Given the description of an element on the screen output the (x, y) to click on. 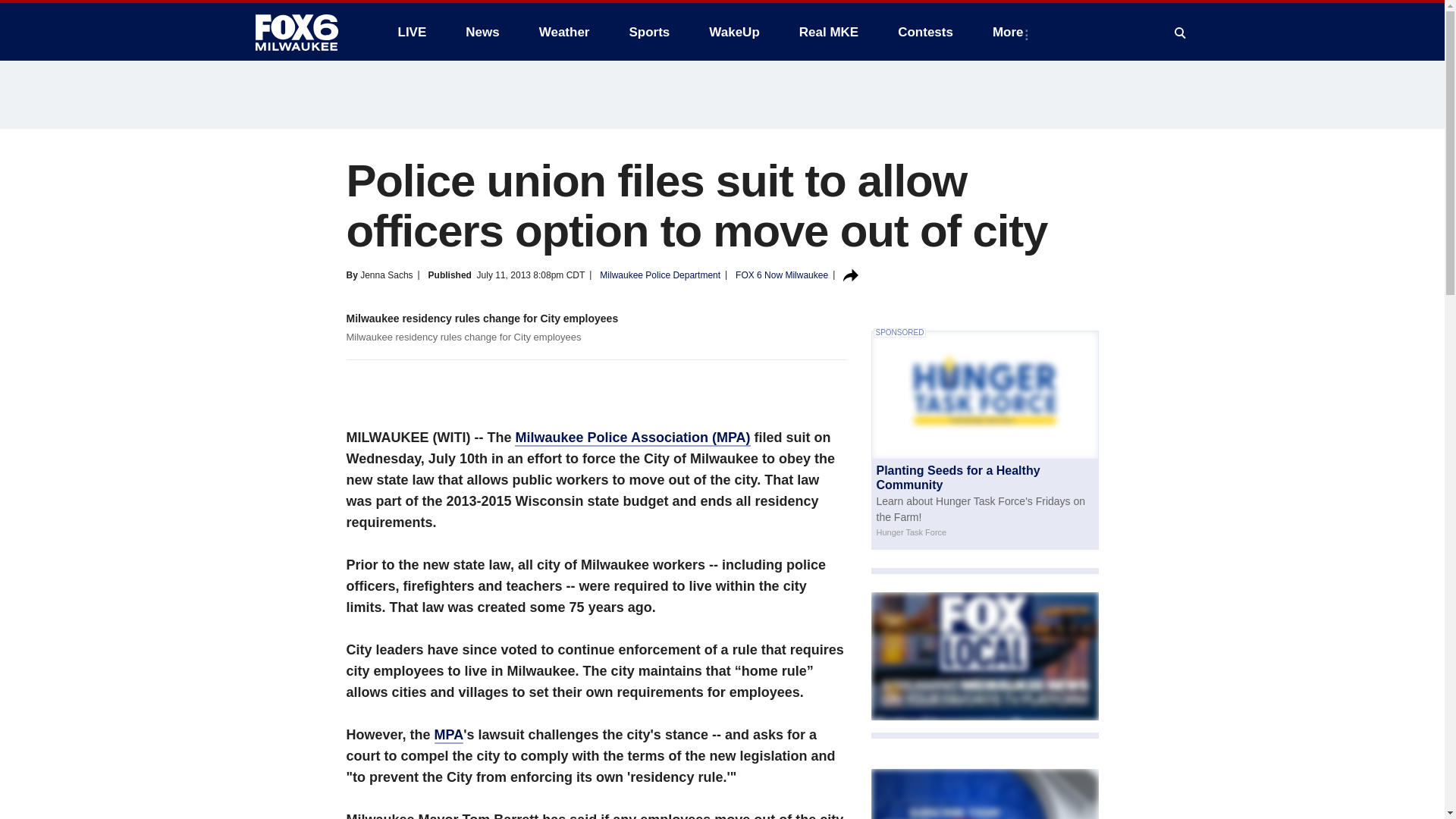
WakeUp (734, 32)
Weather (564, 32)
Contests (925, 32)
LIVE (411, 32)
News (481, 32)
More (1010, 32)
Sports (648, 32)
Real MKE (828, 32)
